Given the description of an element on the screen output the (x, y) to click on. 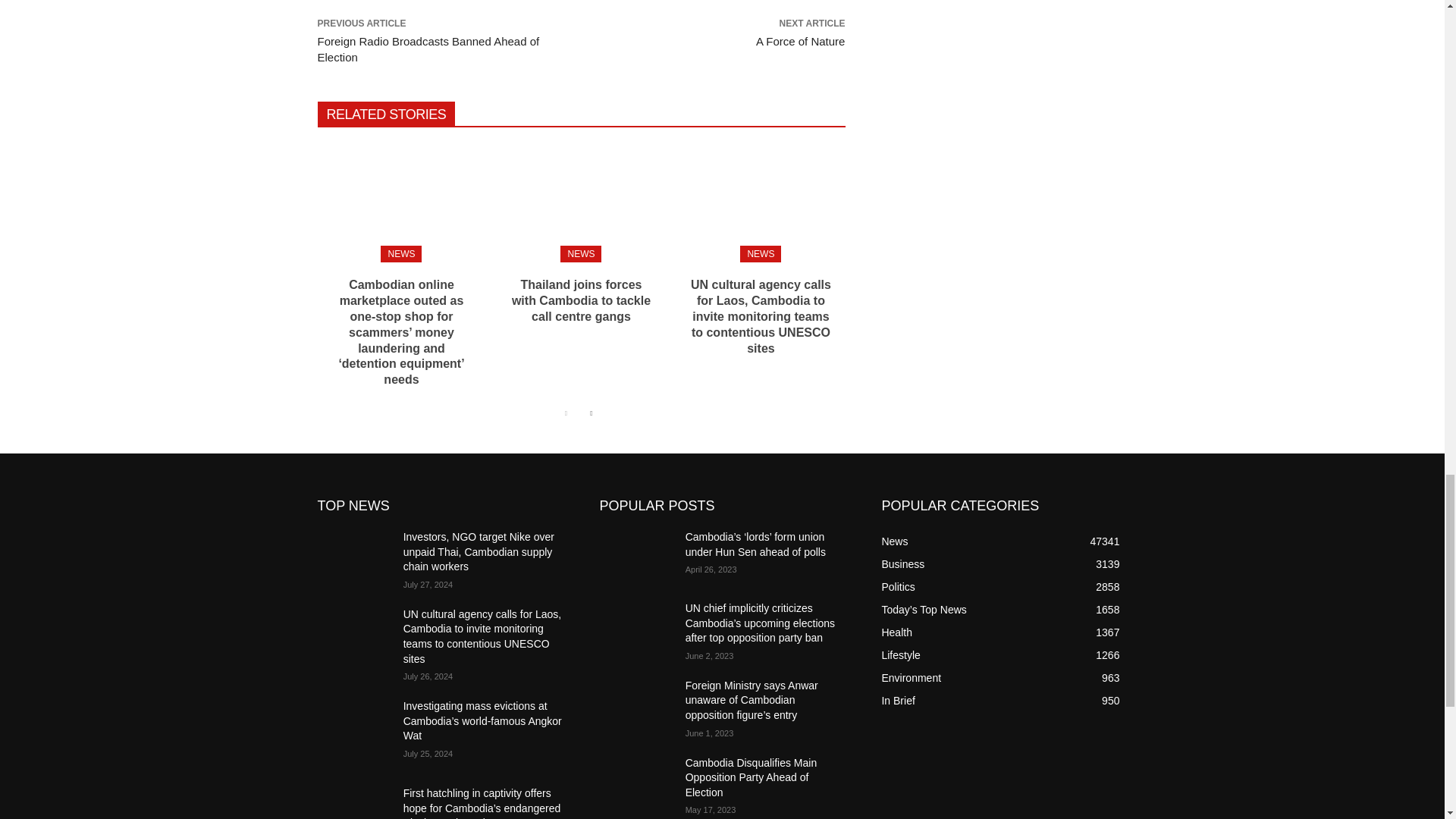
NEWS (580, 253)
Foreign Radio Broadcasts Banned Ahead of Election (427, 49)
NEWS (401, 253)
NEWS (759, 253)
A Force of Nature (800, 41)
